Given the description of an element on the screen output the (x, y) to click on. 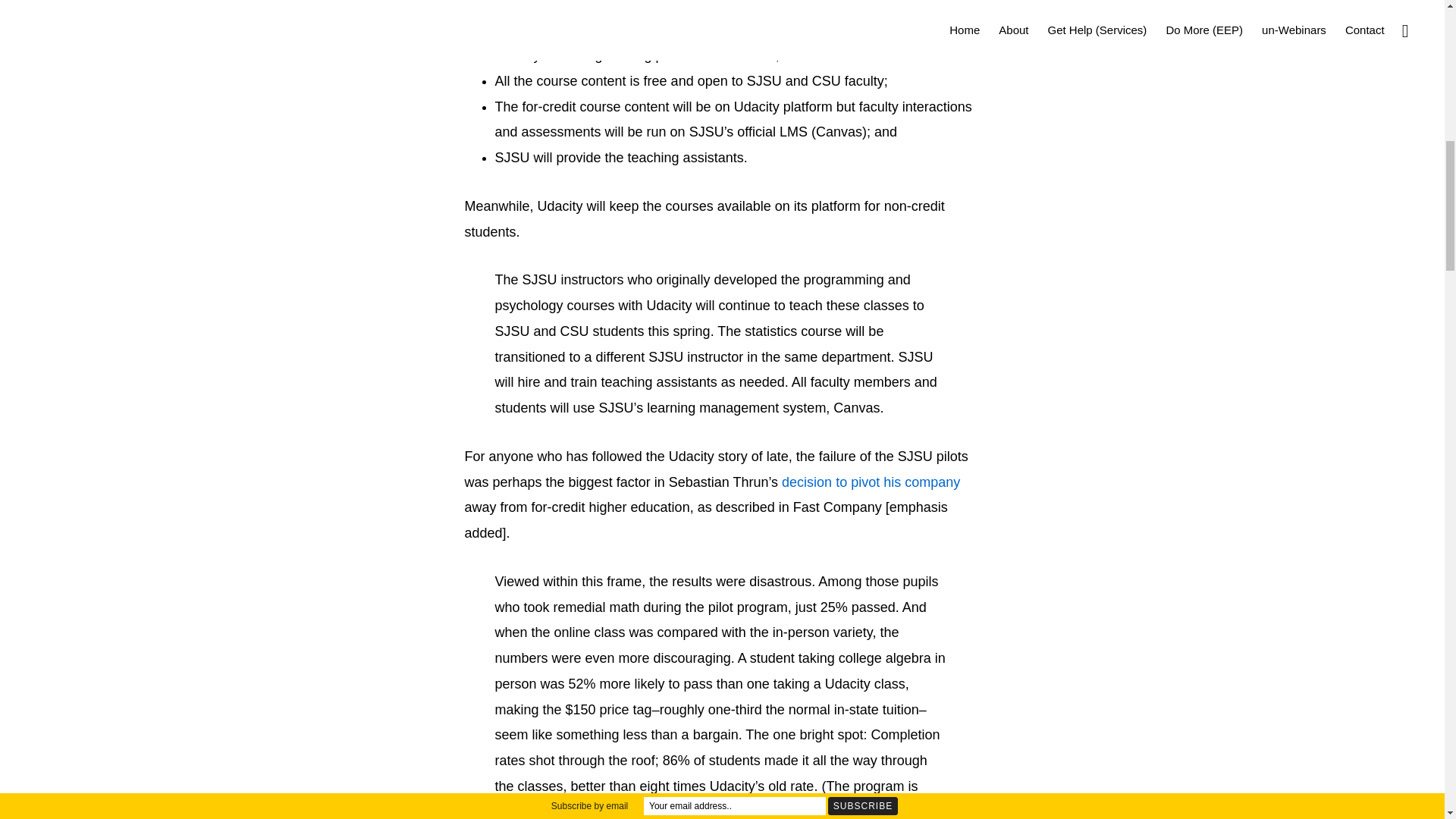
decision to pivot his company (870, 482)
